Given the description of an element on the screen output the (x, y) to click on. 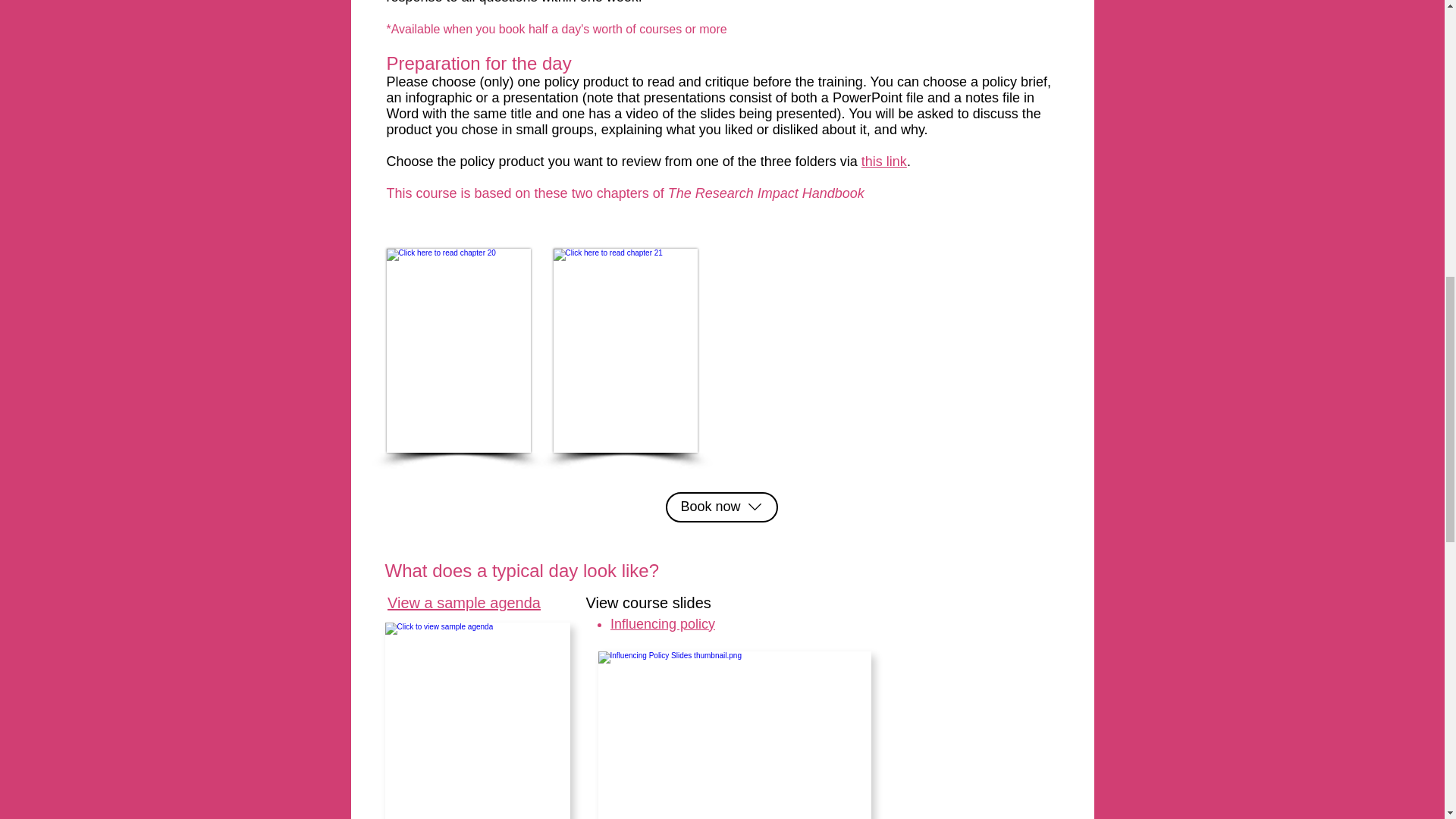
Click to view Influencing Policy slideshow (733, 735)
View a sample agenda (463, 602)
this link (884, 160)
Influencing policy (662, 623)
Book now (721, 507)
